Given the description of an element on the screen output the (x, y) to click on. 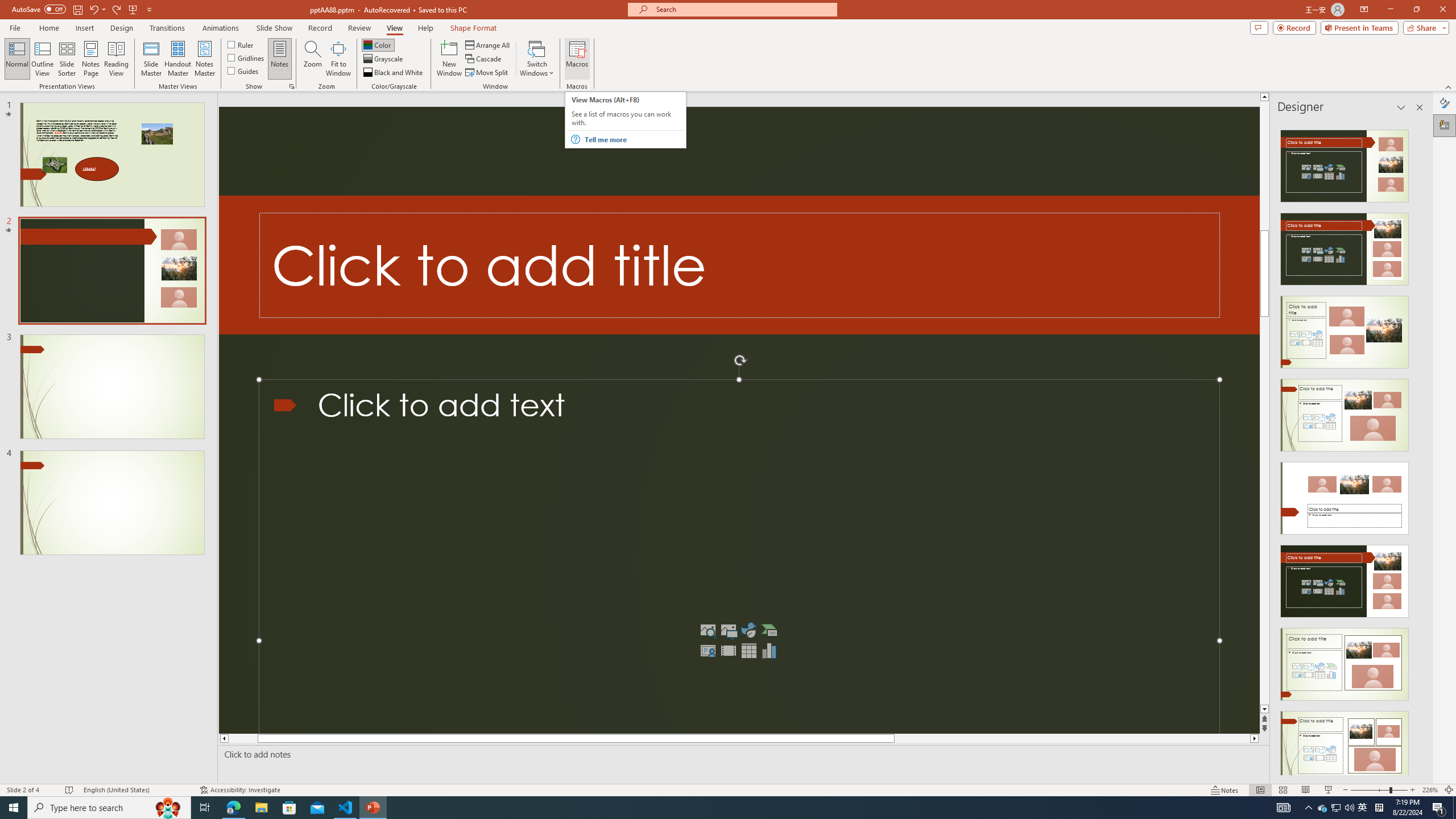
Notes Page (90, 58)
Insert Cameo (707, 650)
Move Split (487, 72)
Cascade (484, 58)
